Given the description of an element on the screen output the (x, y) to click on. 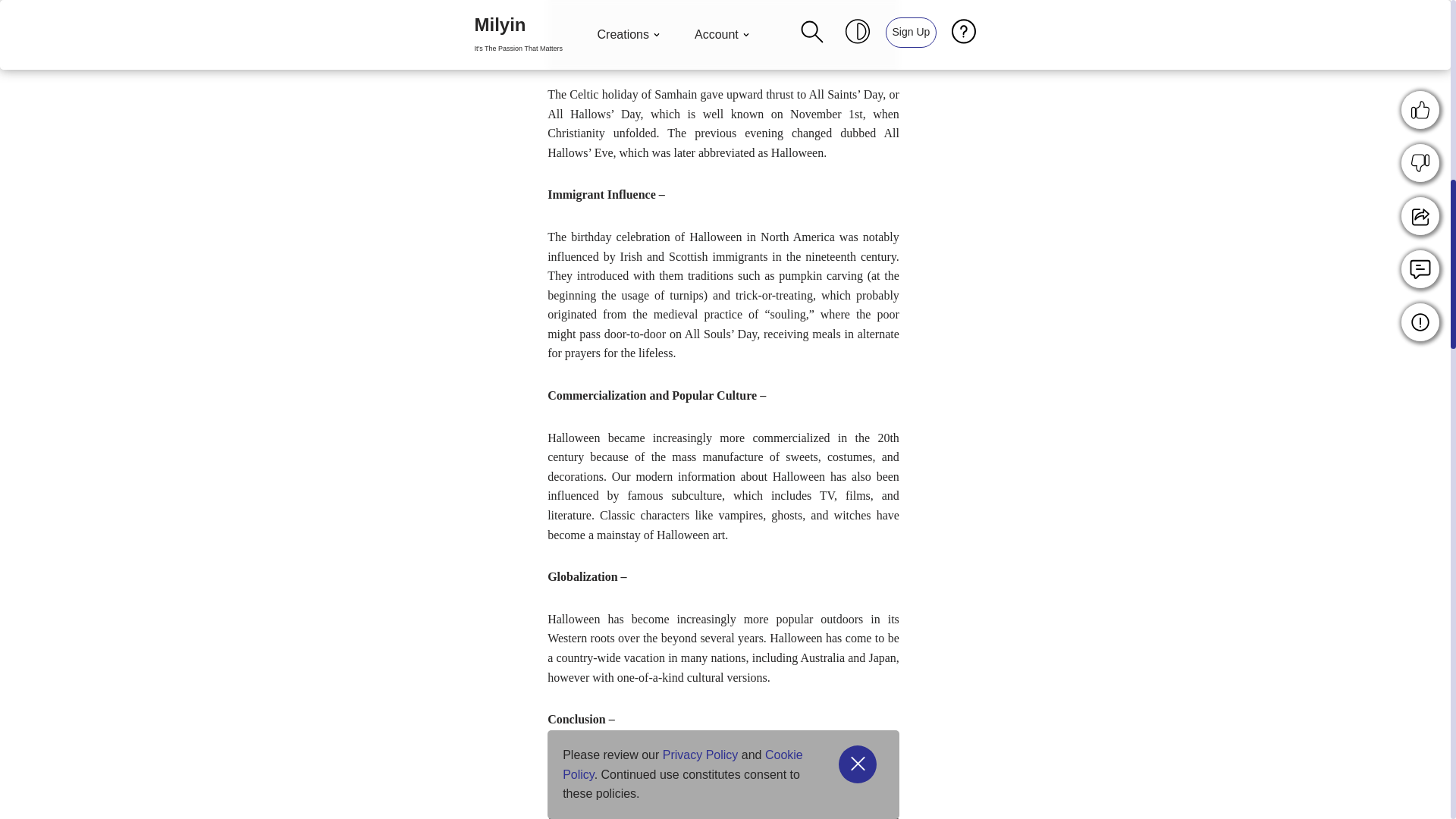
Advertisement (828, 22)
